Given the description of an element on the screen output the (x, y) to click on. 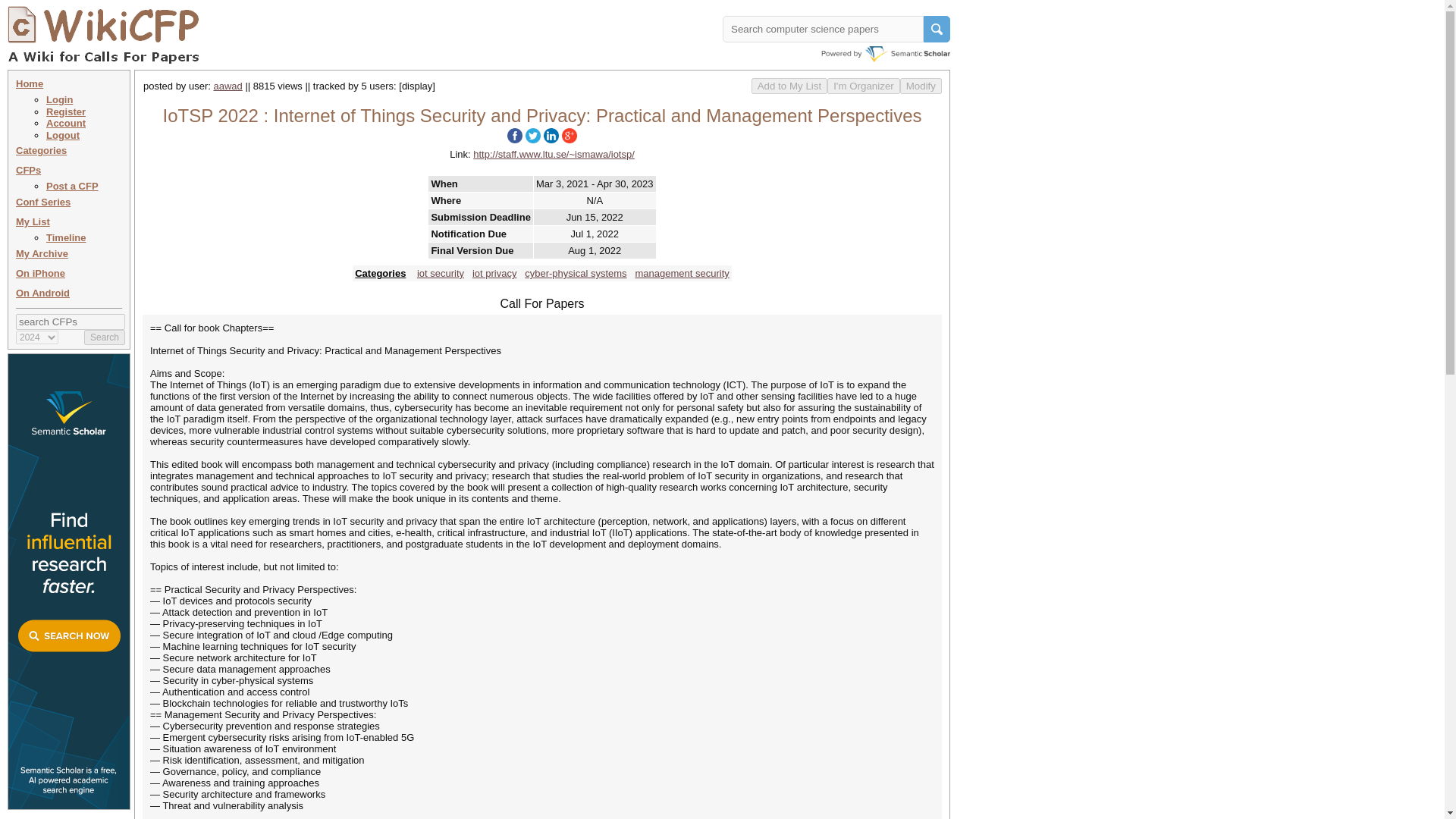
Timeline (65, 237)
On Android (42, 292)
Home (29, 83)
My List (32, 221)
Modify (920, 85)
Search (104, 337)
CFPs (28, 170)
Search (104, 337)
Add to My List (789, 85)
aawad (228, 85)
Categories (41, 150)
Post a CFP (72, 185)
cyber-physical systems (575, 273)
Login (59, 99)
Logout (63, 134)
